Given the description of an element on the screen output the (x, y) to click on. 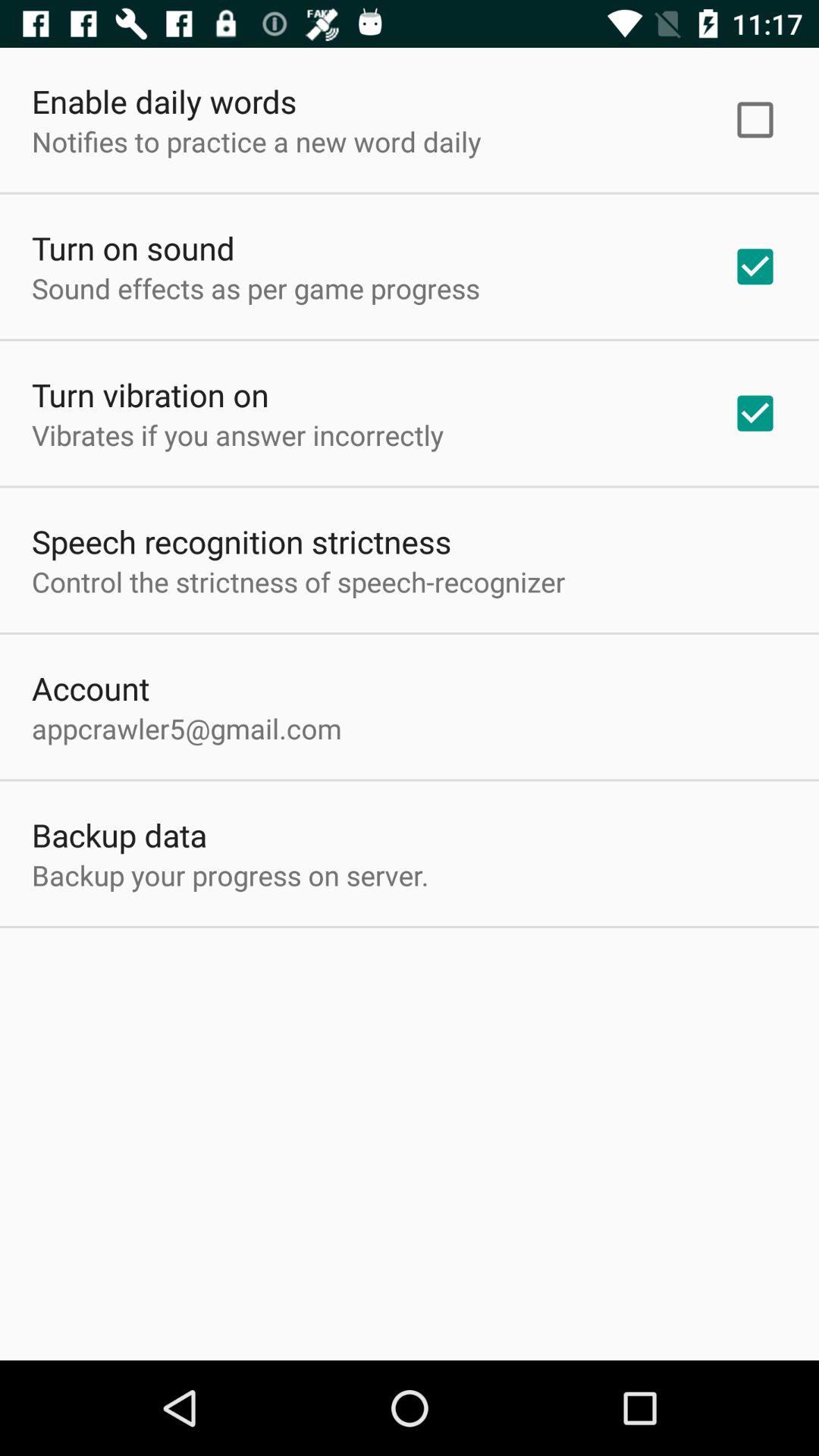
press icon above notifies to practice item (163, 100)
